Given the description of an element on the screen output the (x, y) to click on. 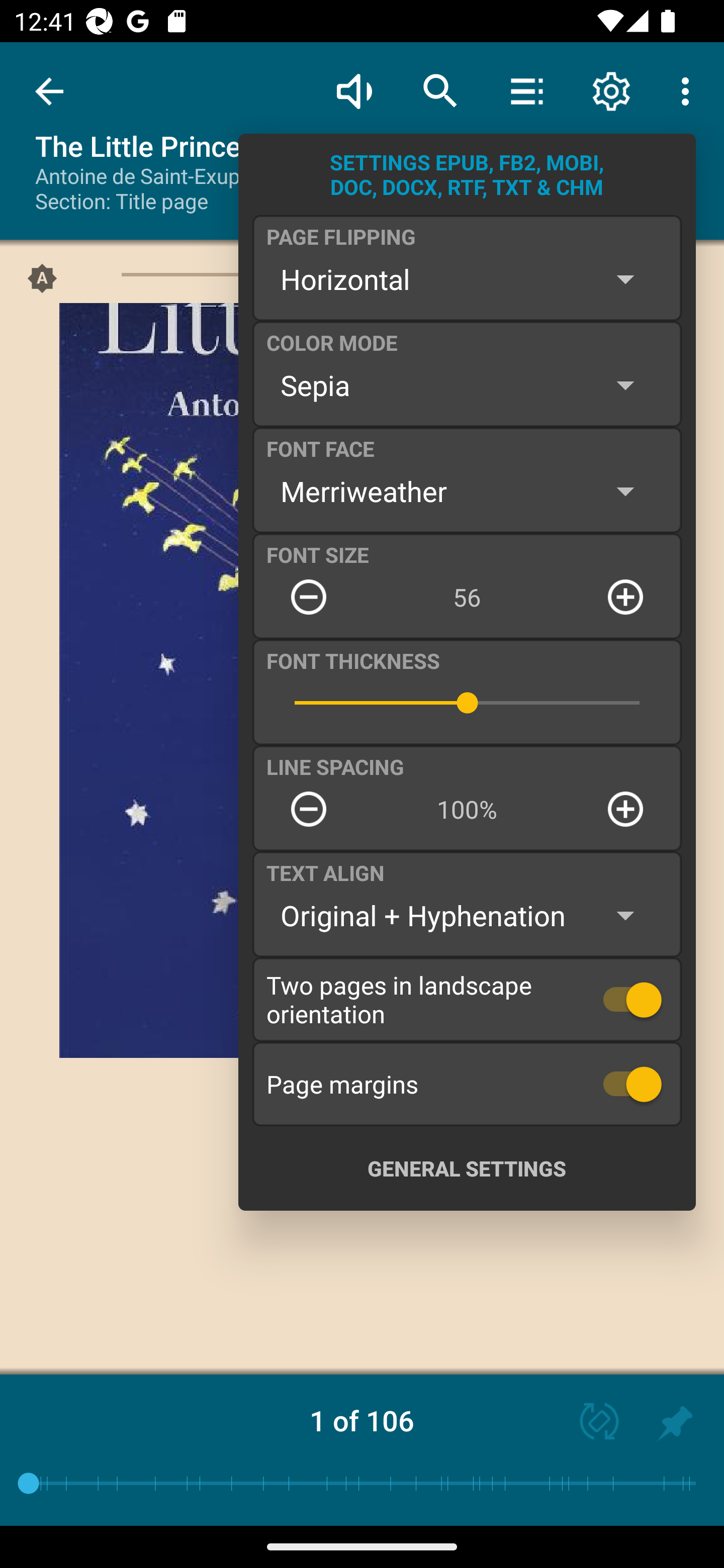
Horizontal (466, 278)
Sepia (466, 384)
Merriweather (466, 490)
Original + Hyphenation (466, 915)
Two pages in landscape orientation (467, 999)
Page margins (467, 1083)
GENERAL SETTINGS (466, 1167)
